Given the description of an element on the screen output the (x, y) to click on. 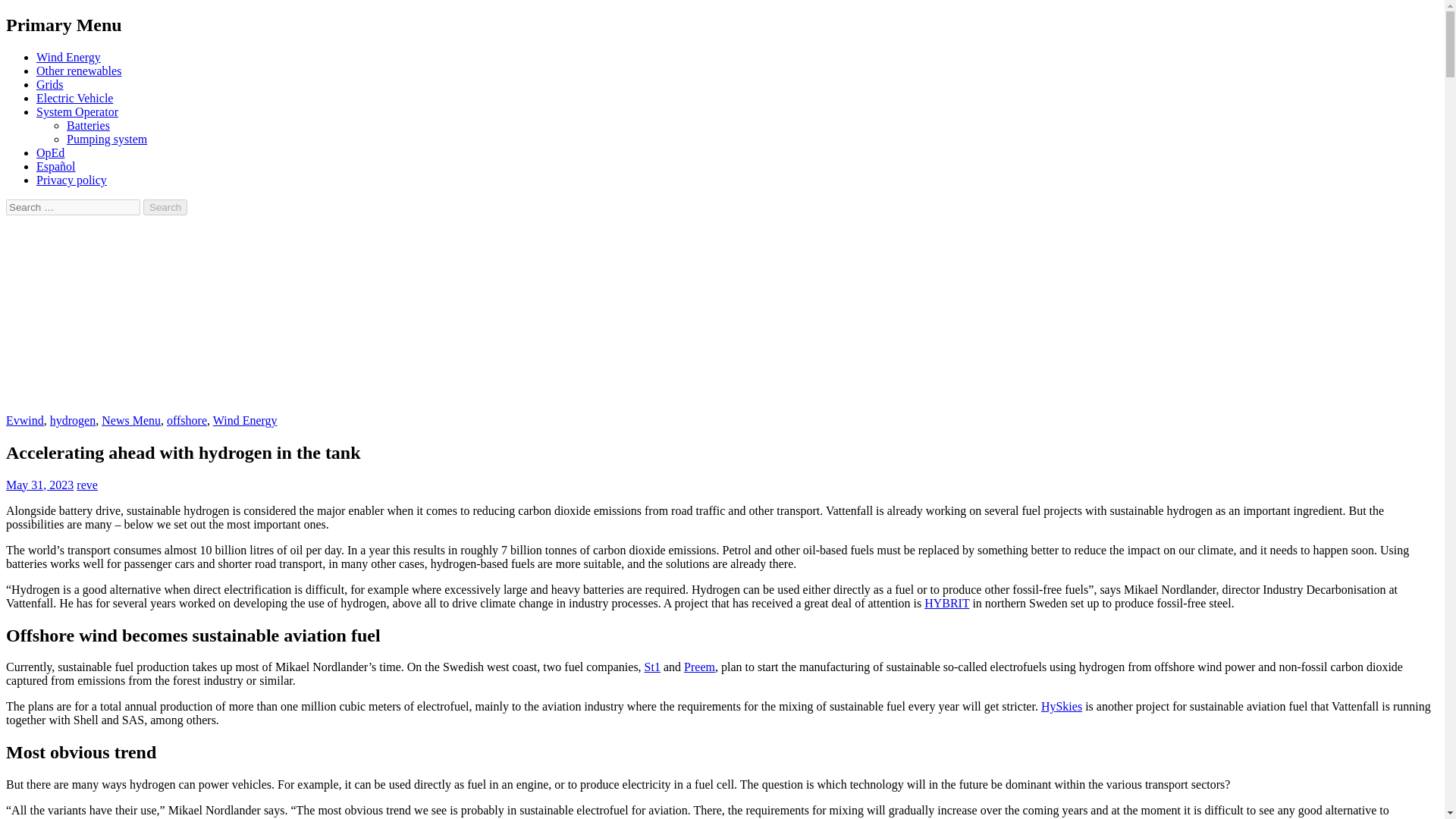
OpEd (50, 152)
Search (164, 207)
HySkies (1061, 706)
Grids (50, 83)
Preem (699, 666)
Search (164, 207)
Pumping system (106, 138)
System Operator (76, 111)
News Menu (130, 420)
